Given the description of an element on the screen output the (x, y) to click on. 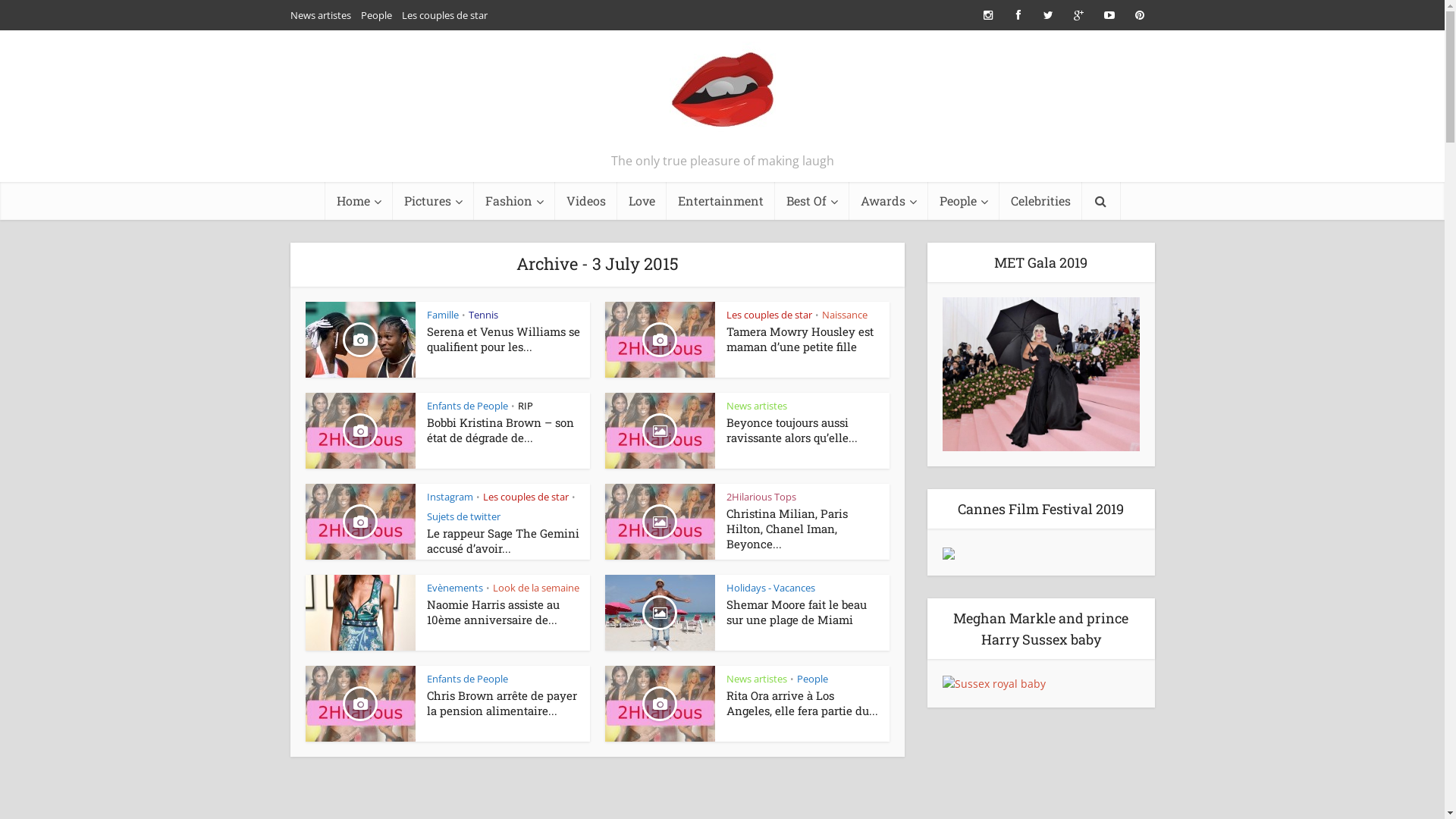
RIP Element type: text (524, 405)
News artistes Element type: text (756, 678)
Pictures Element type: text (432, 200)
Awards Element type: text (888, 200)
Videos Element type: text (586, 200)
Fashion Element type: text (513, 200)
Look de la semaine Element type: text (535, 587)
Holidays - Vacances Element type: text (770, 587)
Enfants de People Element type: text (466, 678)
Love Element type: text (641, 200)
Les couples de star Element type: text (769, 314)
Shemar Moore fait le beau sur une plage de Miami Element type: text (796, 611)
People Element type: text (376, 14)
Famille Element type: text (442, 314)
Les couples de star Element type: text (444, 14)
People Element type: text (811, 678)
Enfants de People Element type: text (466, 405)
News artistes Element type: text (319, 14)
Naissance Element type: text (844, 314)
News artistes Element type: text (756, 405)
2Hilarious.com Element type: hover (721, 94)
Tennis Element type: text (483, 314)
Home Element type: text (358, 200)
2Hilarious Tops Element type: text (761, 496)
People Element type: text (963, 200)
Instagram Element type: text (449, 496)
Serena et Venus Williams se qualifient pour les... Element type: text (502, 338)
Celebrities Element type: text (1040, 200)
Les couples de star Element type: text (524, 496)
Christina Milian, Paris Hilton, Chanel Iman, Beyonce... Element type: text (786, 528)
Sujets de twitter Element type: text (462, 516)
Entertainment Element type: text (719, 200)
Best Of Element type: text (812, 200)
